Given the description of an element on the screen output the (x, y) to click on. 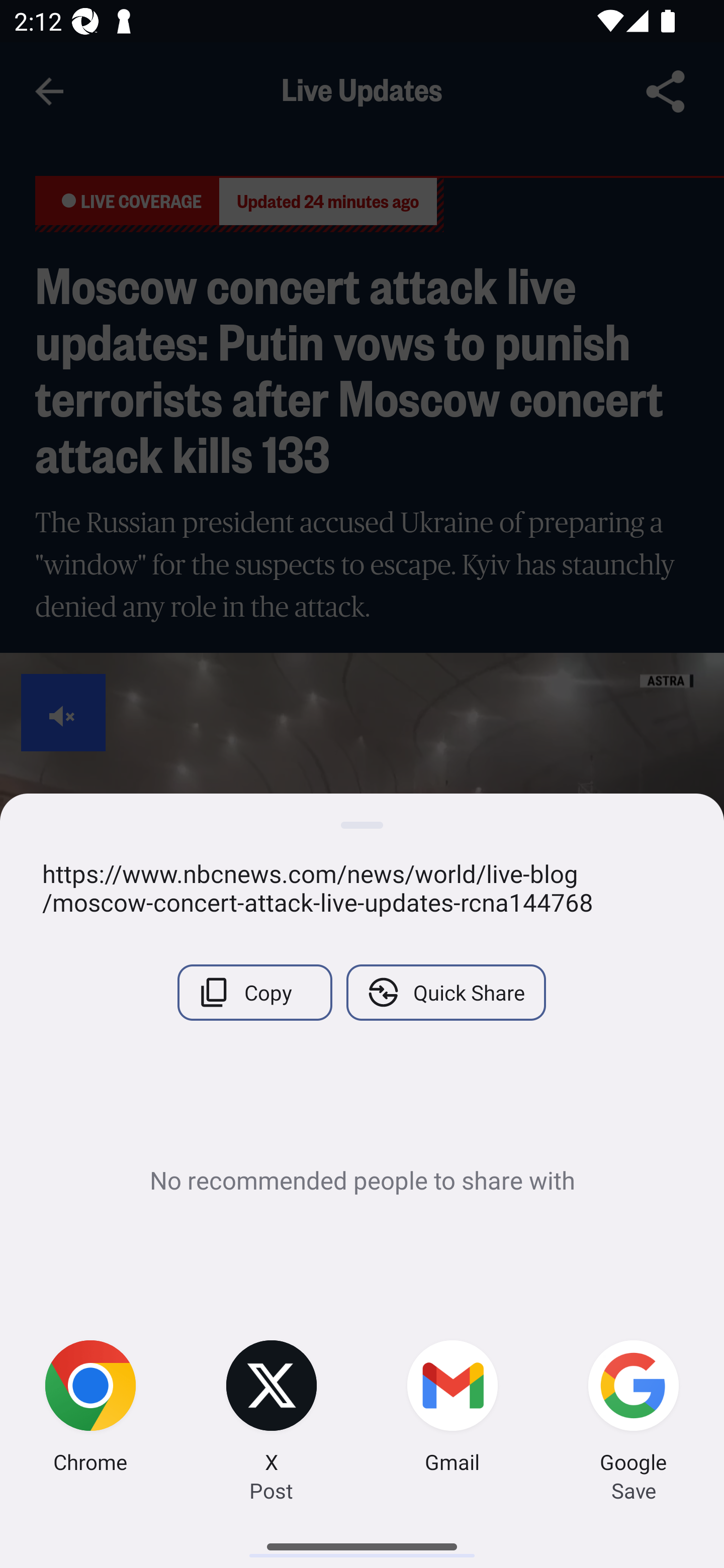
Copy (254, 992)
Quick Share (445, 992)
Chrome (90, 1409)
X Post (271, 1409)
Gmail (452, 1409)
Google Save (633, 1409)
